Given the description of an element on the screen output the (x, y) to click on. 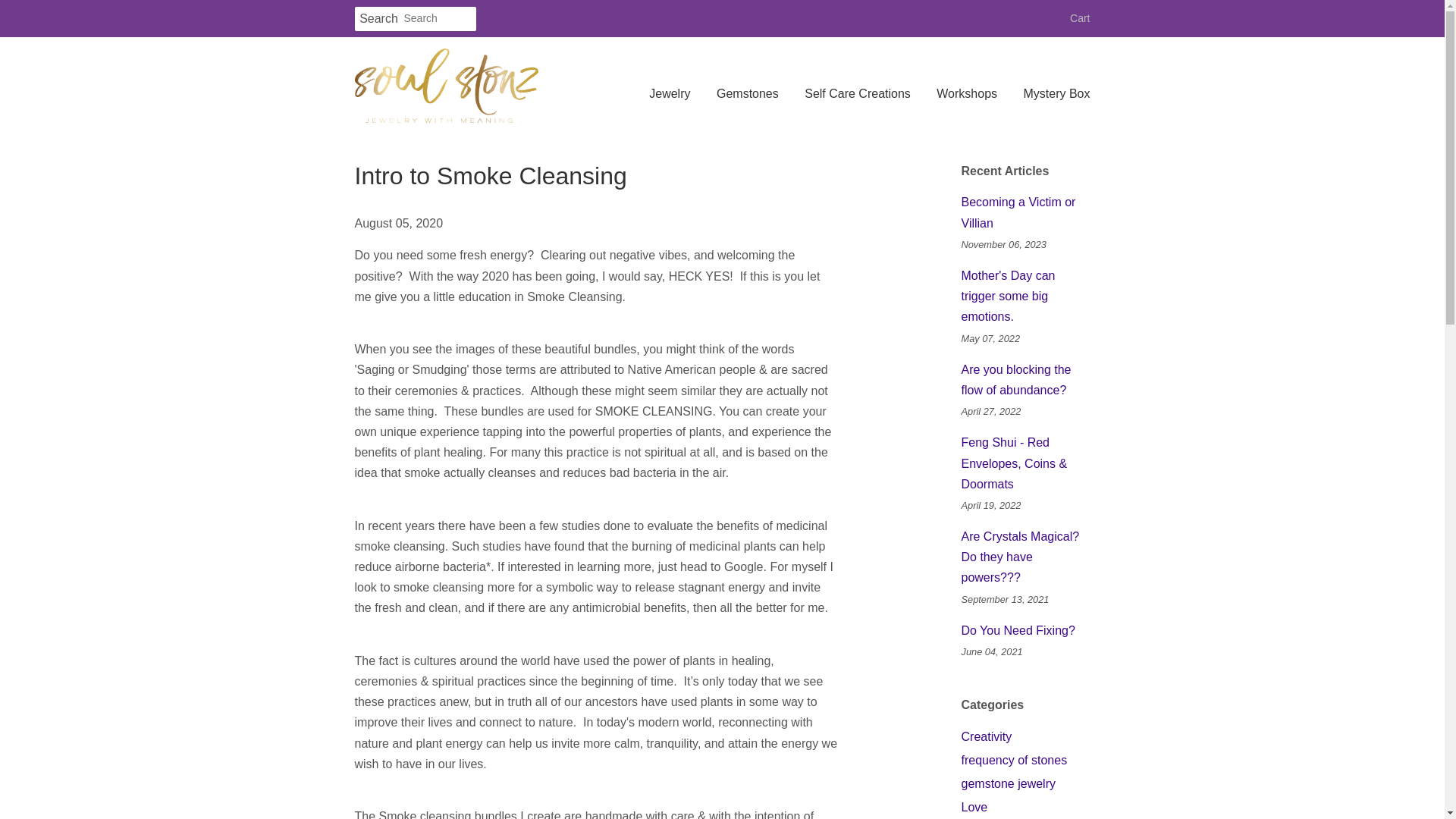
Cart (1079, 18)
Show articles tagged Creativity (985, 736)
Show articles tagged Love (974, 807)
Gemstones (747, 93)
Search (379, 18)
Show articles tagged frequency of stones (1013, 759)
Show articles tagged gemstone jewelry (1008, 783)
Jewelry (675, 93)
